Given the description of an element on the screen output the (x, y) to click on. 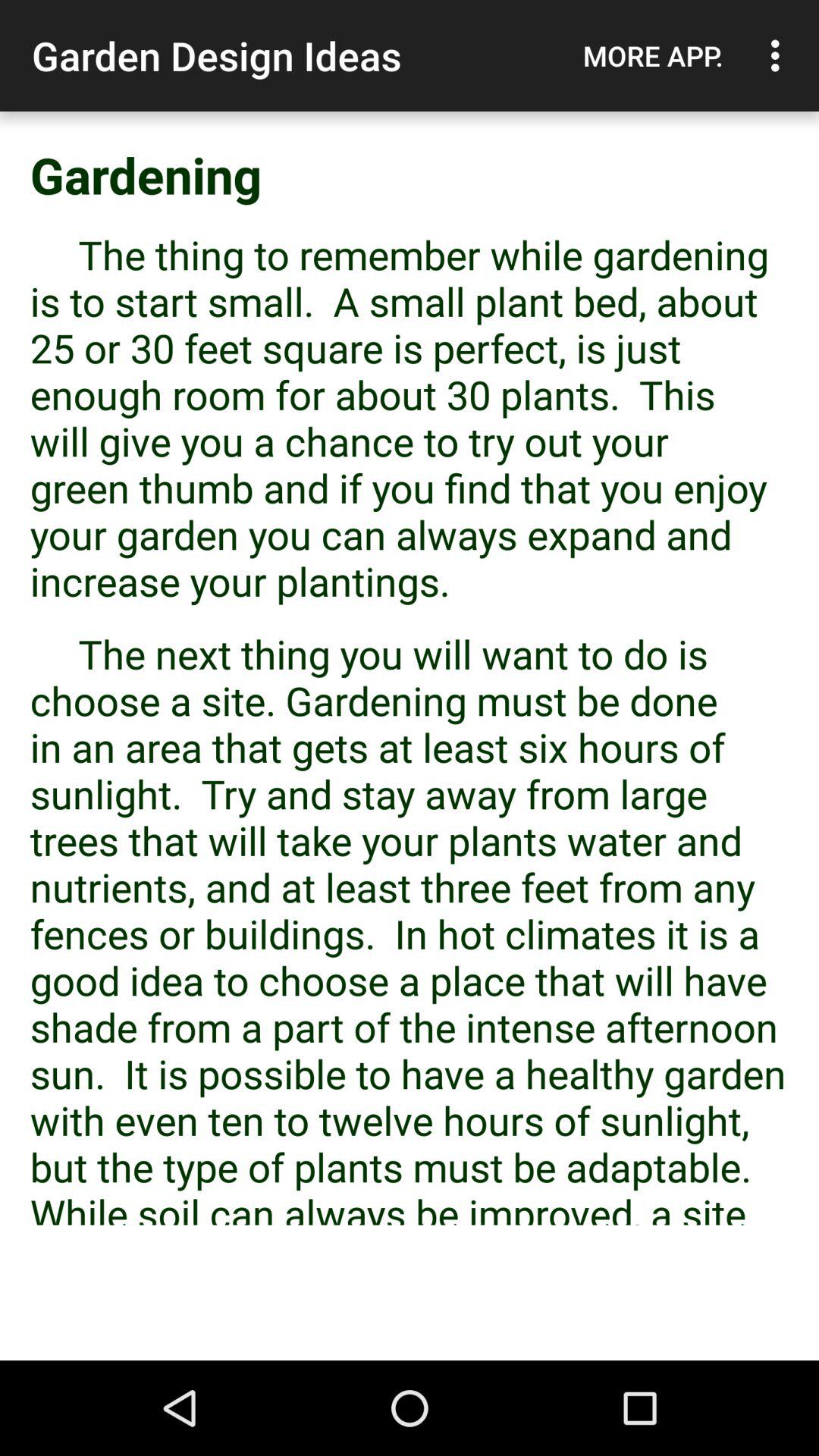
click the icon next to the more app. item (779, 55)
